Given the description of an element on the screen output the (x, y) to click on. 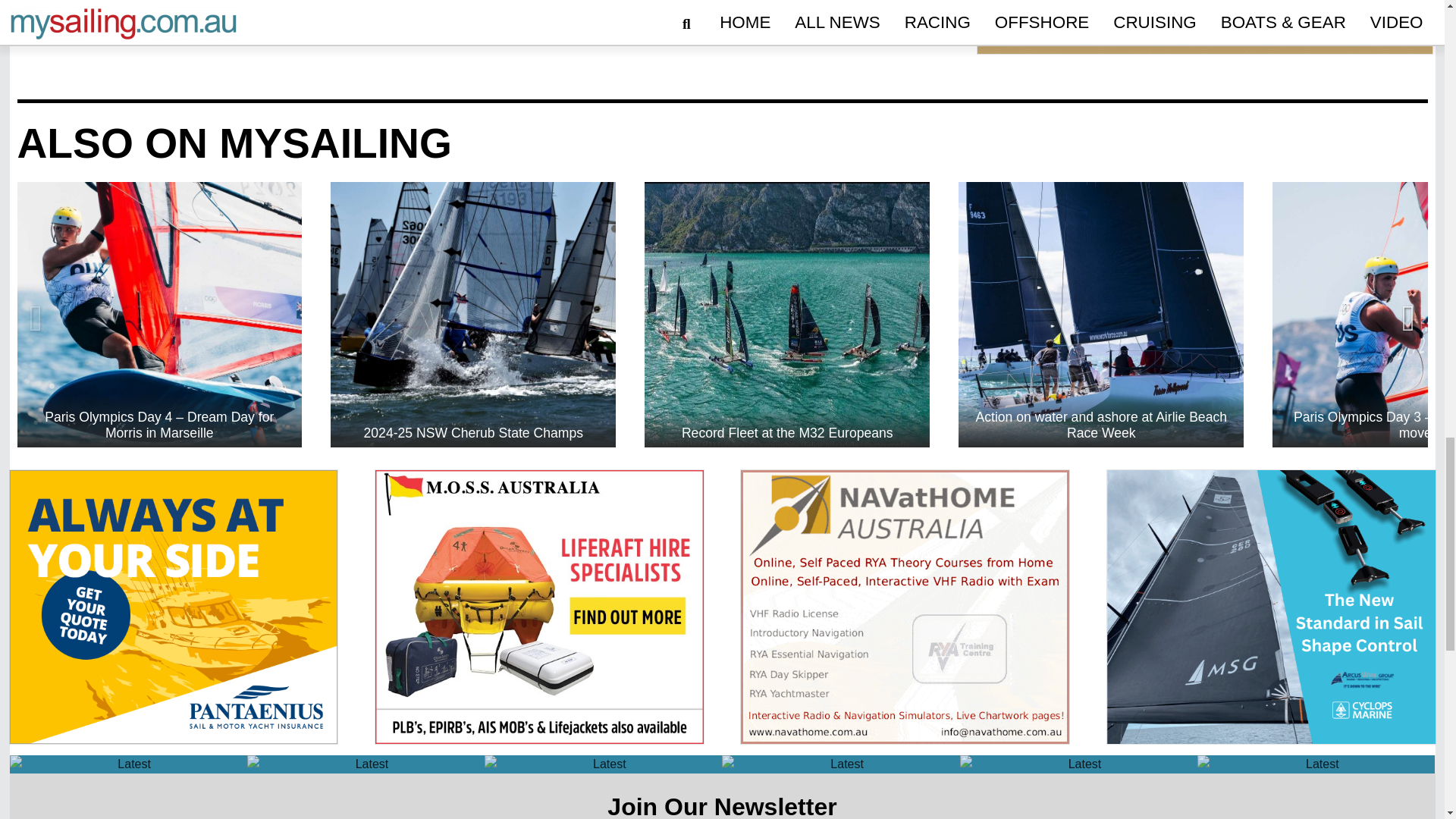
2024-25 NSW Cherub State Champs (472, 314)
Action on water and ashore at Airlie Beach Race Week (1100, 314)
Record Fleet at the M32 Europeans (787, 314)
